Given the description of an element on the screen output the (x, y) to click on. 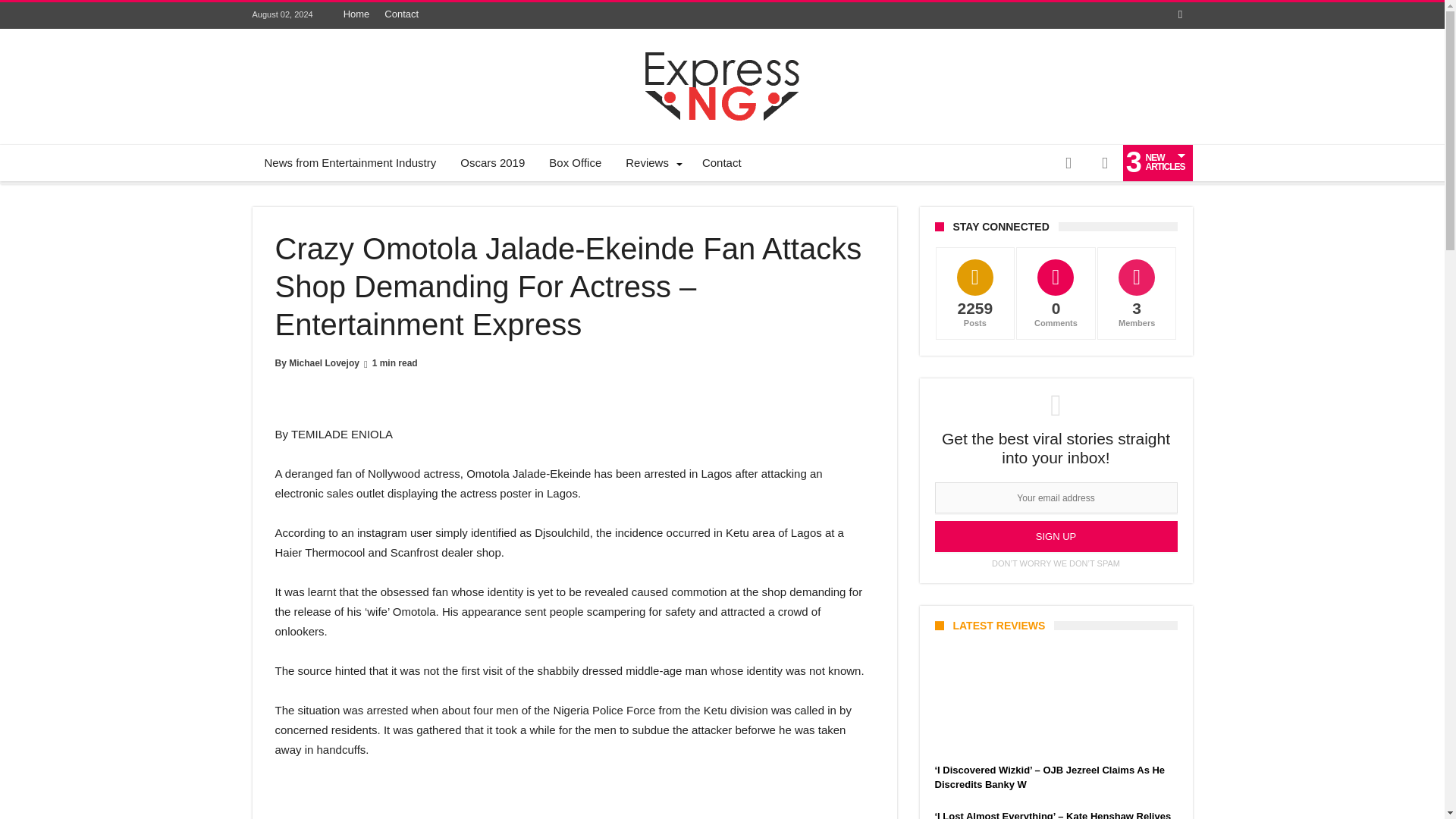
Random Article (1067, 162)
Reviews (651, 162)
Facebook (1179, 15)
News from Entertainment Industry (349, 162)
Contact (401, 14)
Box Office (574, 162)
Sign up (1055, 536)
Oscars 2019 (492, 162)
Entertainment Express (722, 50)
Home (356, 14)
Michael Lovejoy (323, 363)
Contact (722, 162)
